Given the description of an element on the screen output the (x, y) to click on. 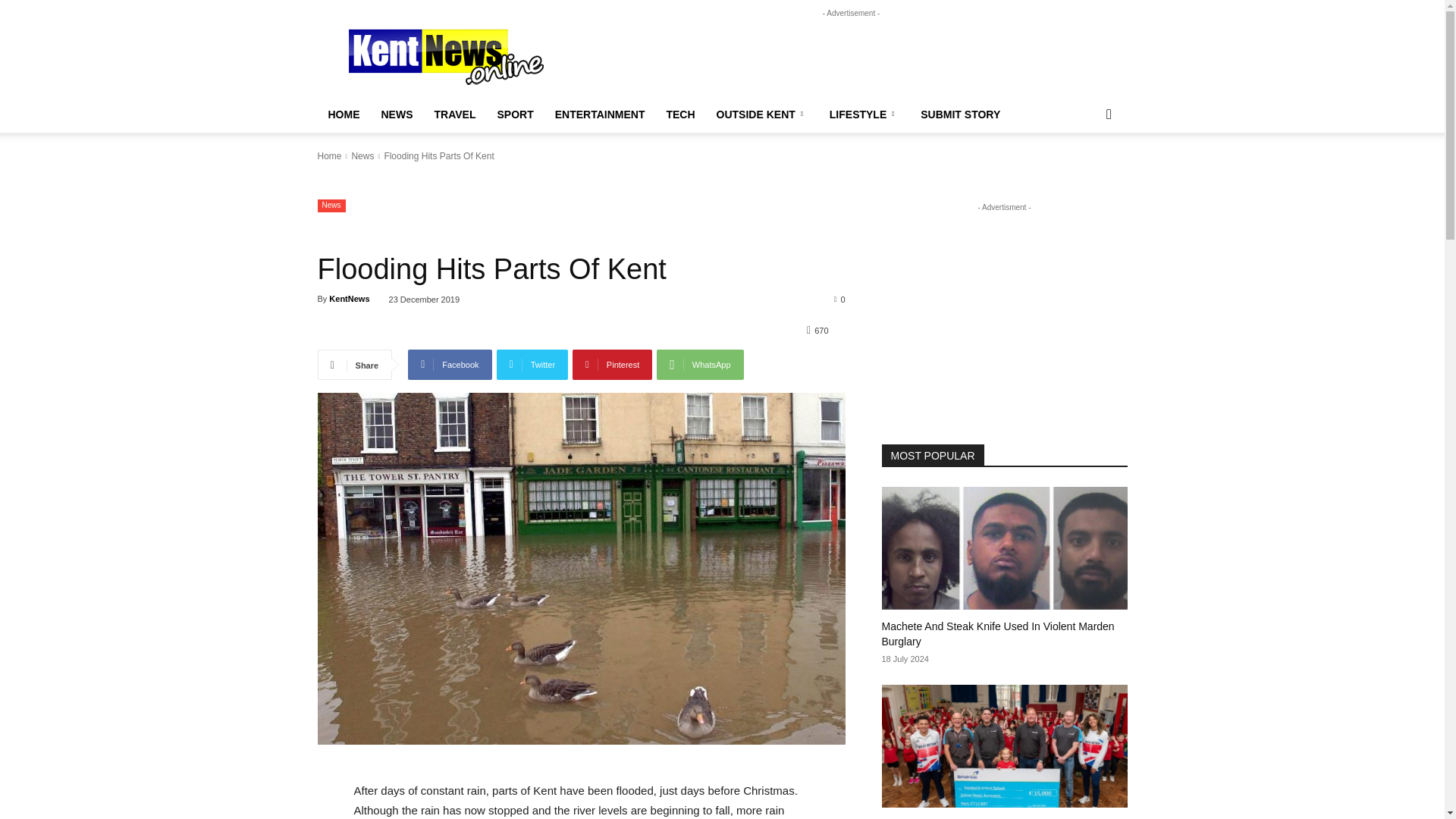
Advertisement (850, 55)
NEWS (396, 114)
TECH (679, 114)
ENTERTAINMENT (600, 114)
HOME (343, 114)
LIFESTYLE (864, 114)
SPORT (514, 114)
KentNews (446, 54)
TRAVEL (454, 114)
OUTSIDE KENT (762, 114)
